Given the description of an element on the screen output the (x, y) to click on. 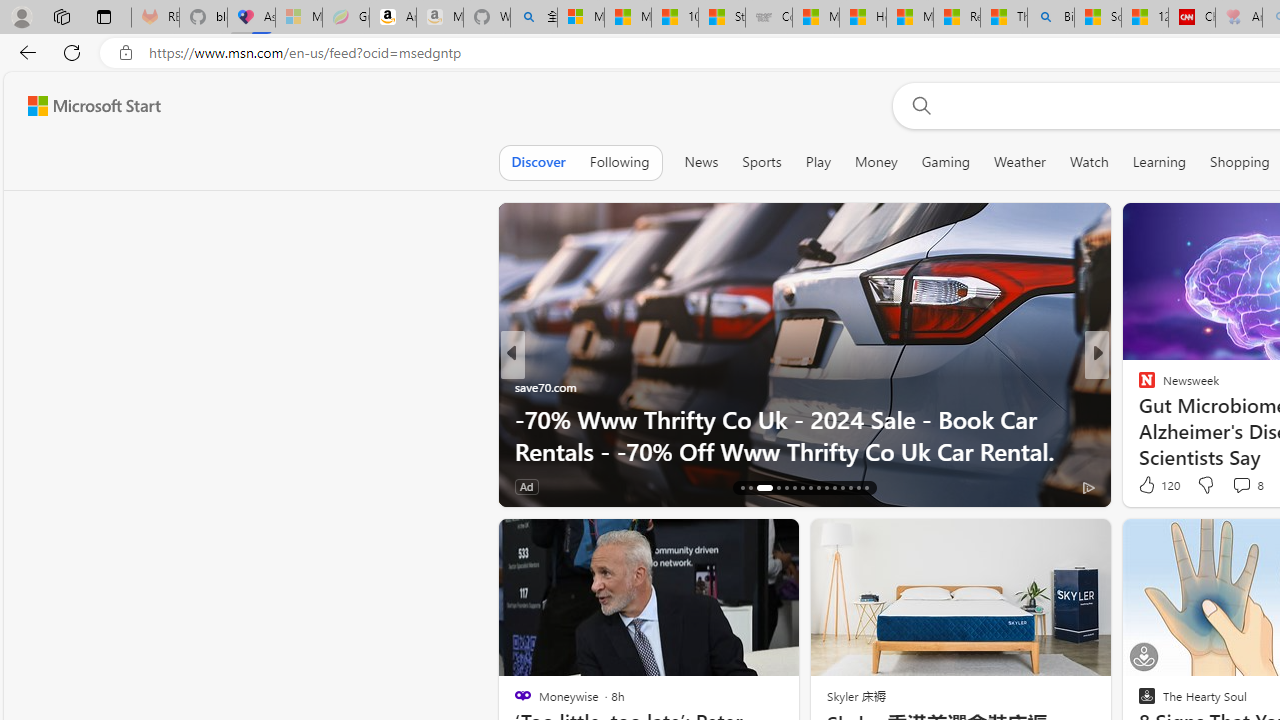
Recipes - MSN (957, 17)
799 Like (1151, 486)
Learning (1159, 161)
View comments 66 Comment (628, 486)
AutomationID: tab-22 (801, 487)
325 Like (1151, 486)
View comments 203 Comment (1247, 486)
Moneywise (522, 386)
